Given the description of an element on the screen output the (x, y) to click on. 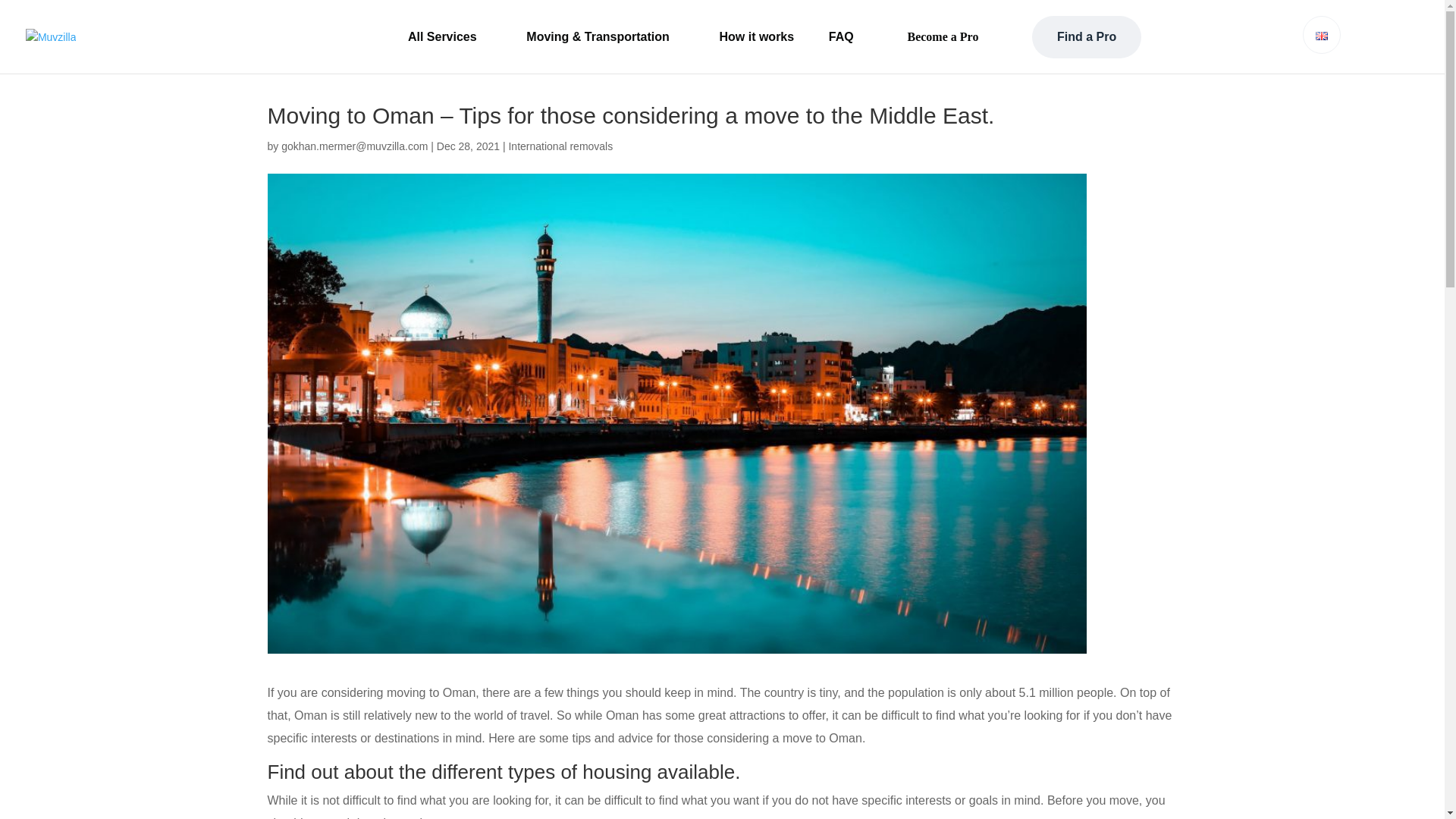
Become a Pro (942, 36)
International removals (560, 146)
All Services (449, 37)
How it works (756, 37)
Find a Pro (1086, 36)
FAQ (840, 37)
